Given the description of an element on the screen output the (x, y) to click on. 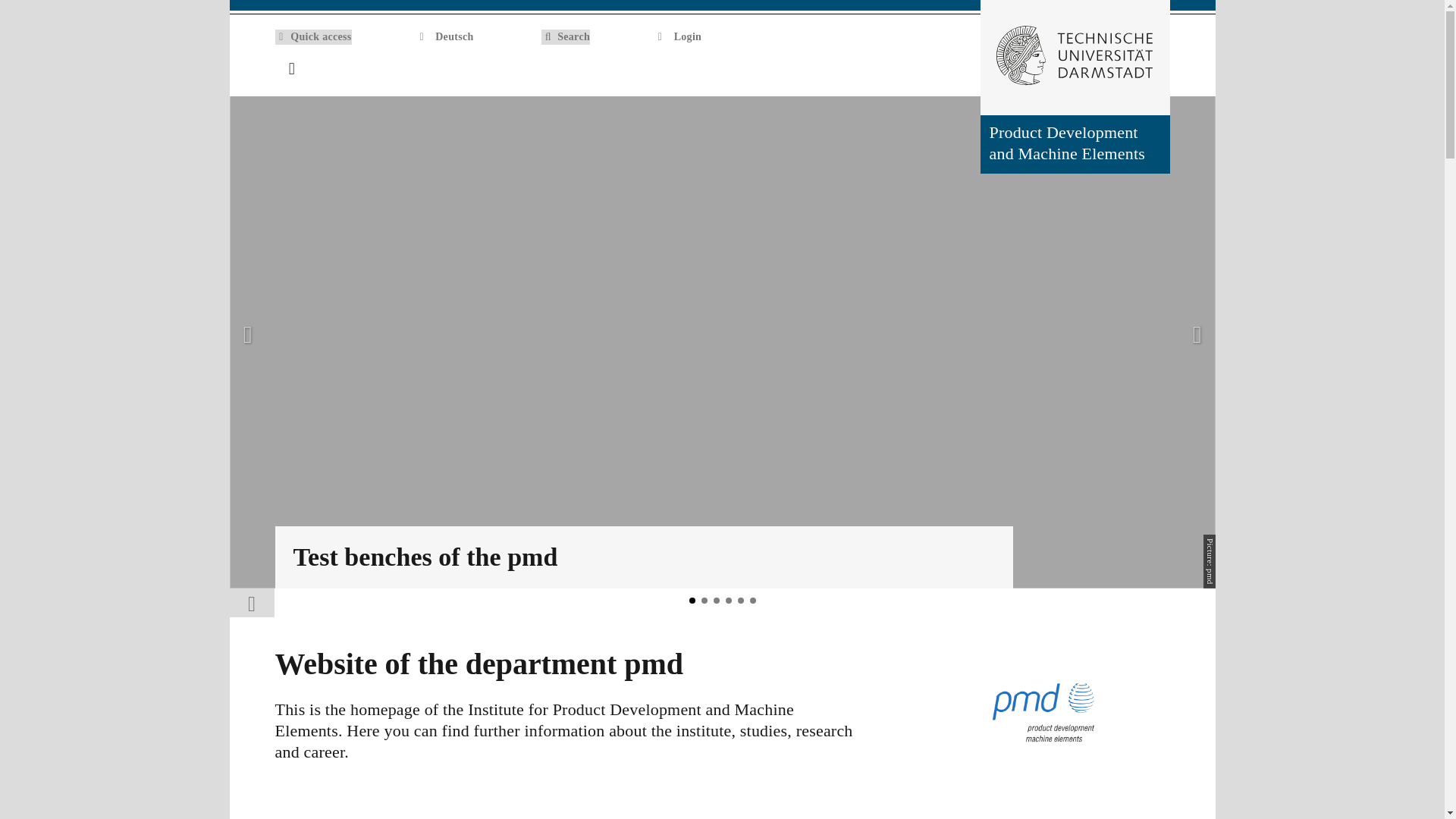
Skip menu (13, 5)
Search (565, 37)
Deutsch (446, 36)
Quick access (312, 37)
Go to home of TU Darmstadt (1074, 57)
Open search panel (1128, 69)
Product Development and Machine Elements (1074, 144)
Home of institution (1160, 69)
Login (679, 36)
Home of institution (1160, 69)
